Given the description of an element on the screen output the (x, y) to click on. 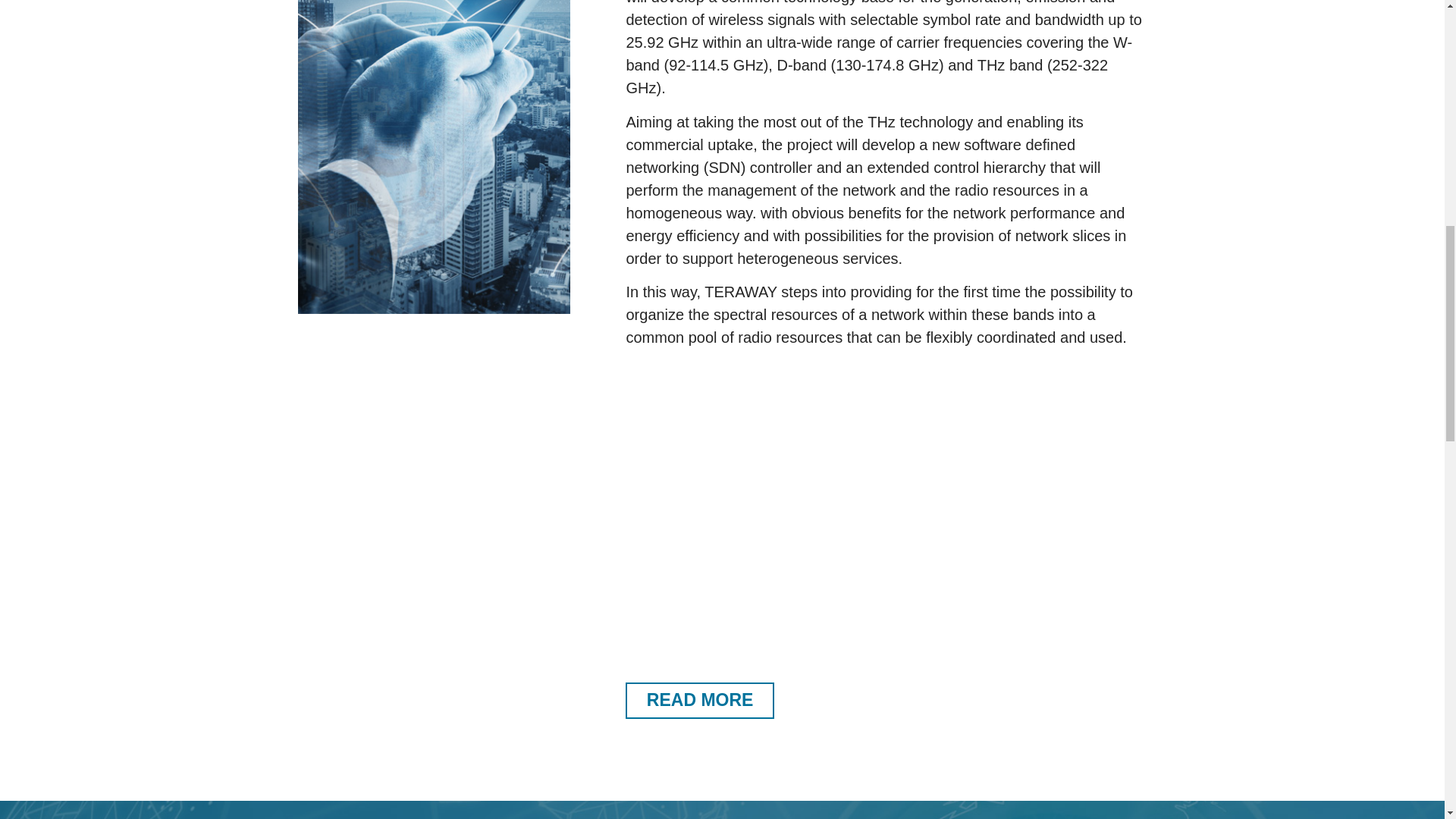
READ MORE (700, 700)
